Given the description of an element on the screen output the (x, y) to click on. 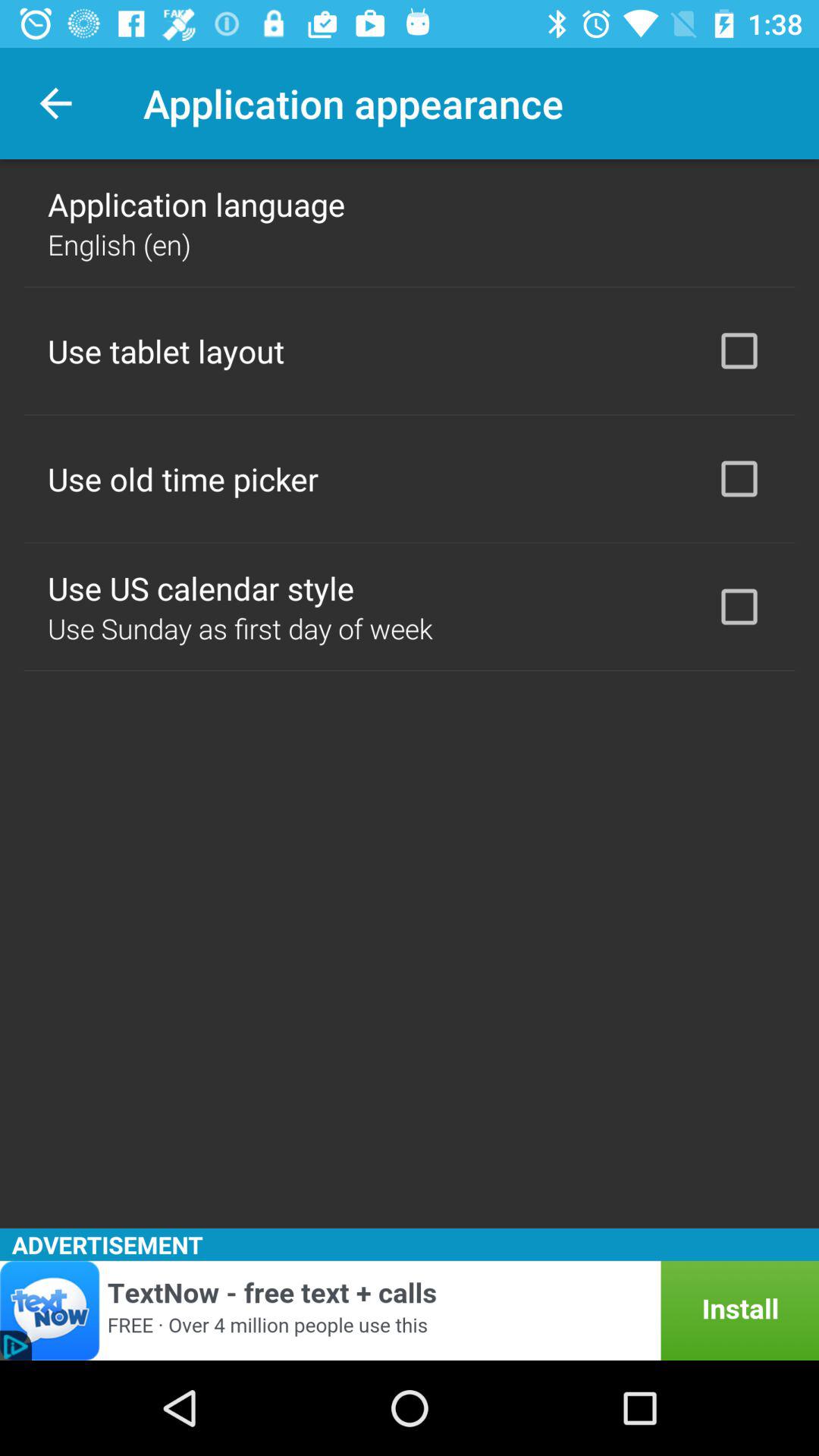
turn on item to the right of use us calendar icon (739, 606)
